Given the description of an element on the screen output the (x, y) to click on. 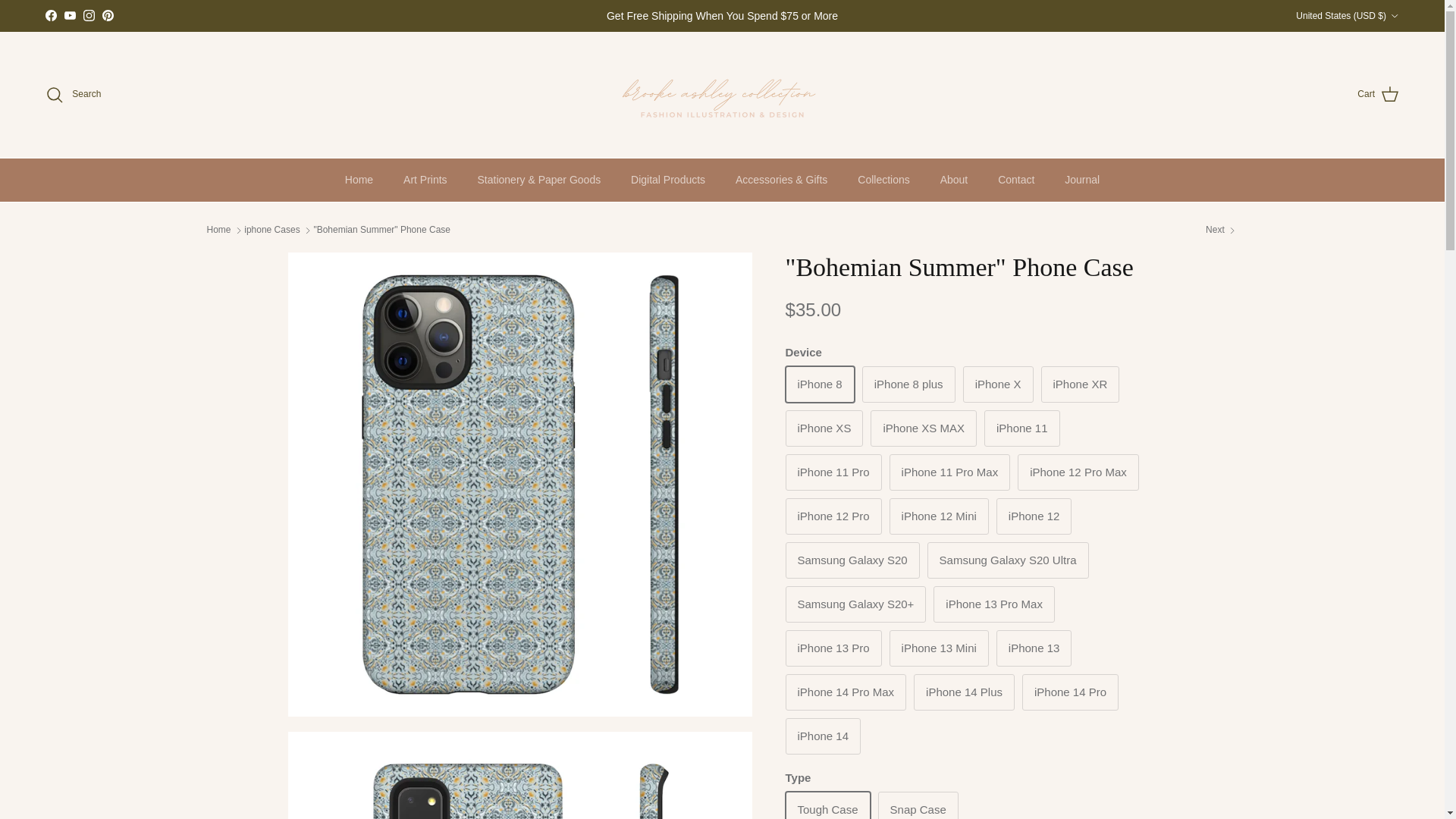
Brooke Ashley Collection  on Instagram (88, 15)
Facebook (50, 15)
Cart (1377, 94)
Search (72, 94)
Brooke Ashley Collection  on YouTube (69, 15)
"Sea Turtles" Phone Case (1221, 229)
Brooke Ashley Collection  (721, 94)
Instagram (88, 15)
Digital Products (668, 179)
Brooke Ashley Collection  on Pinterest (107, 15)
